Given the description of an element on the screen output the (x, y) to click on. 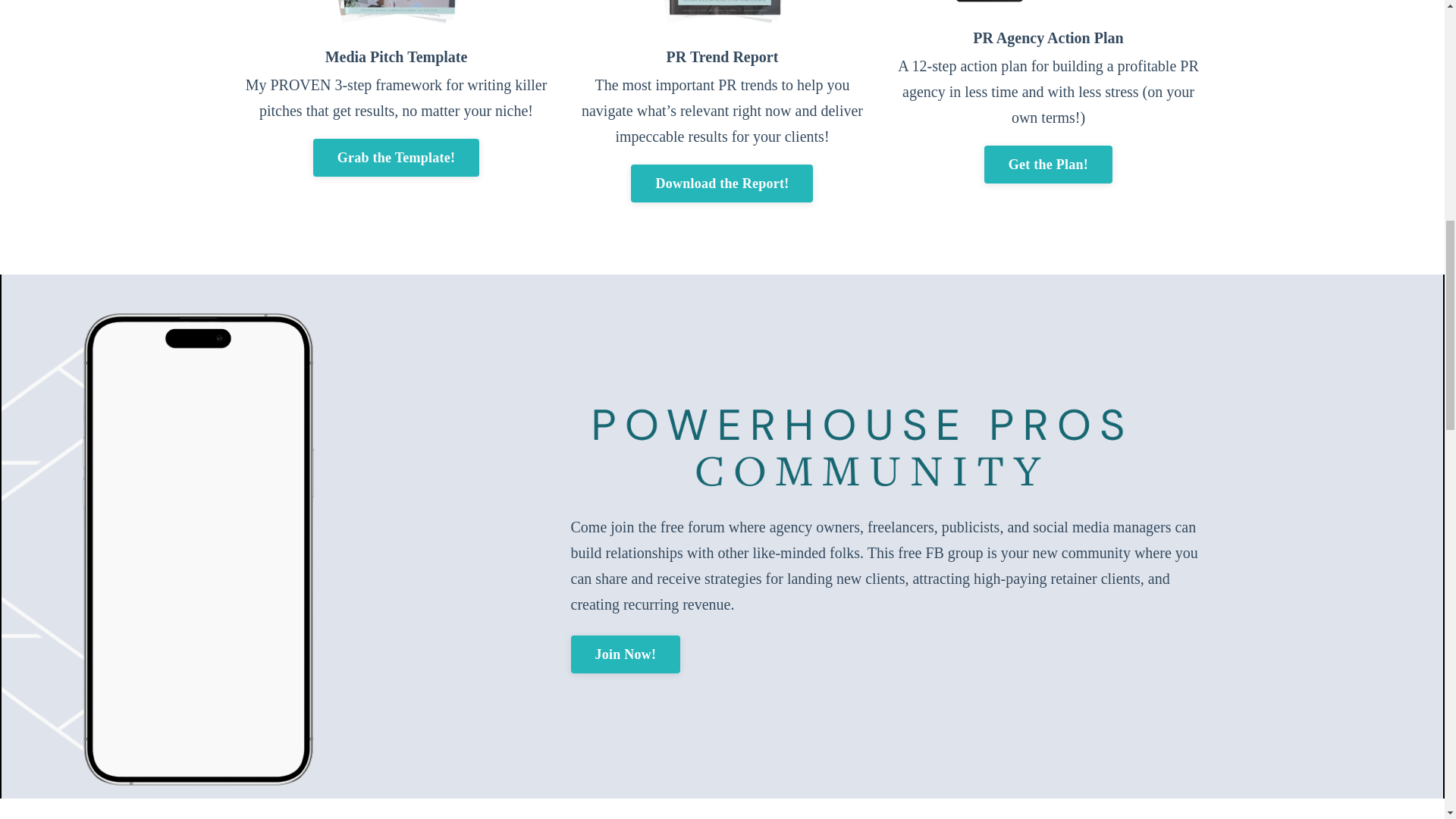
Grab the Template! (396, 157)
Join Now! (624, 654)
Download the Report! (721, 183)
Get the Plan! (1048, 164)
